Given the description of an element on the screen output the (x, y) to click on. 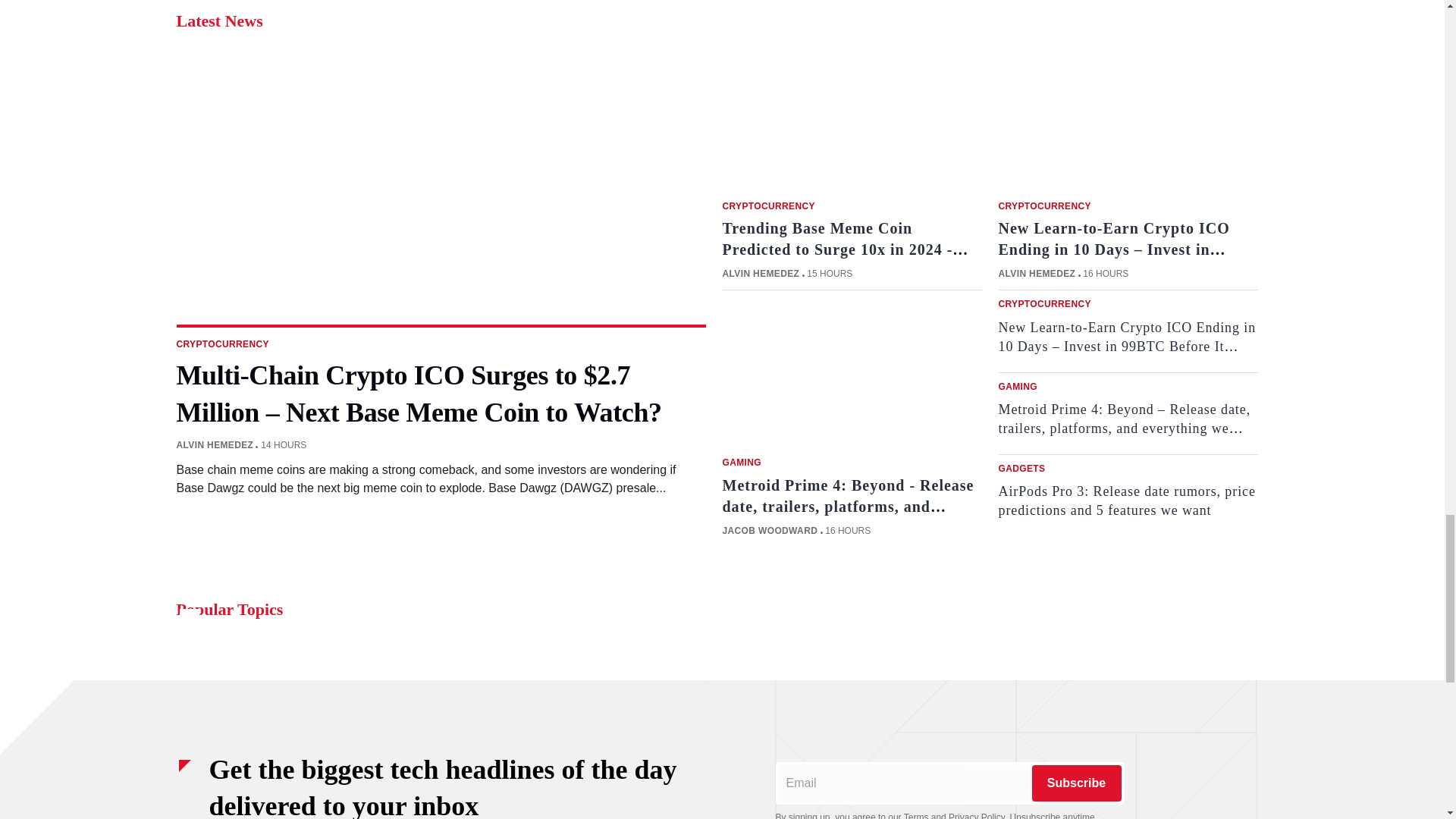
Subscribe (1075, 782)
